Given the description of an element on the screen output the (x, y) to click on. 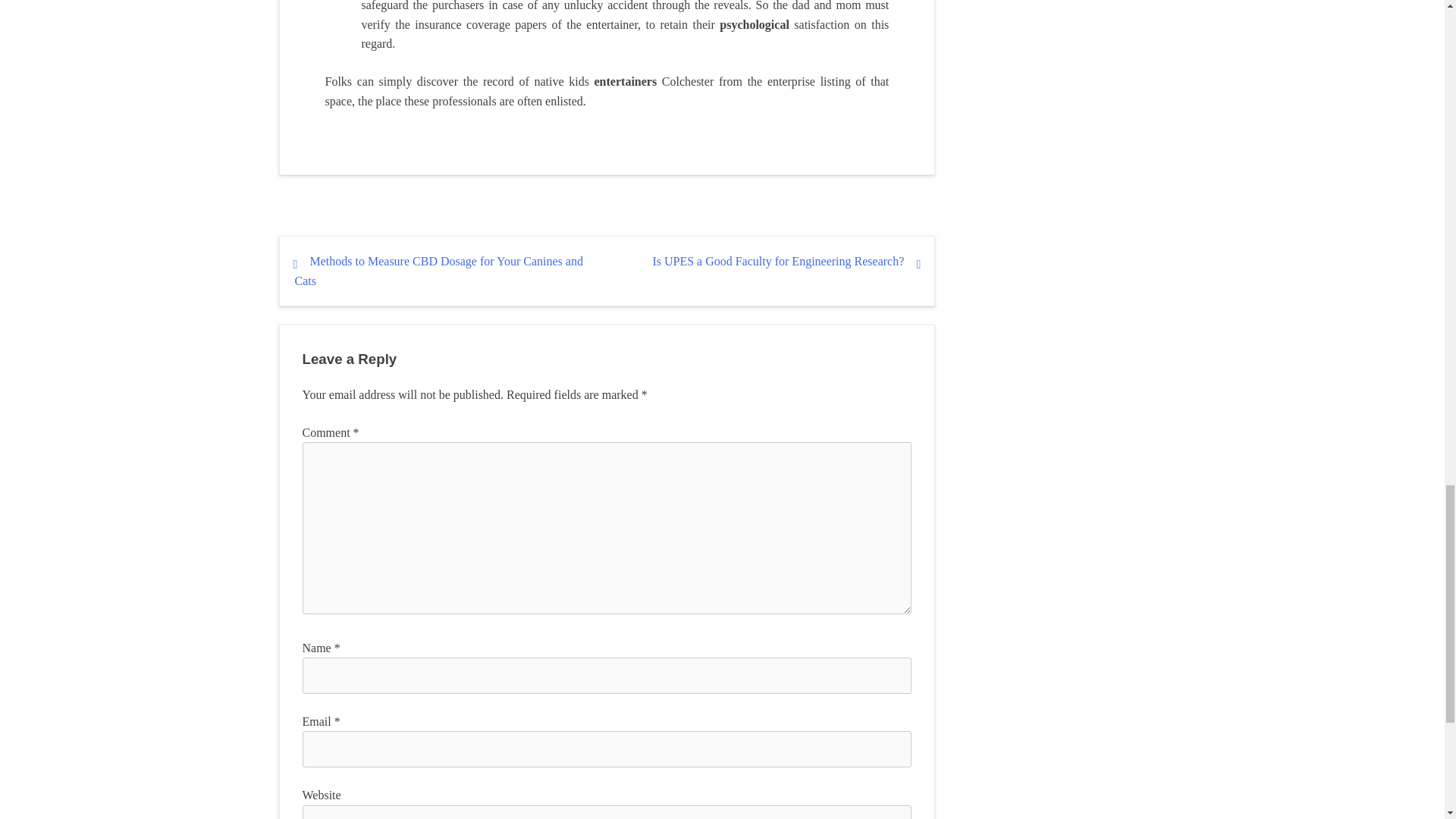
Is UPES a Good Faculty for Engineering Research? (778, 260)
Methods to Measure CBD Dosage for Your Canines and Cats (438, 270)
